Given the description of an element on the screen output the (x, y) to click on. 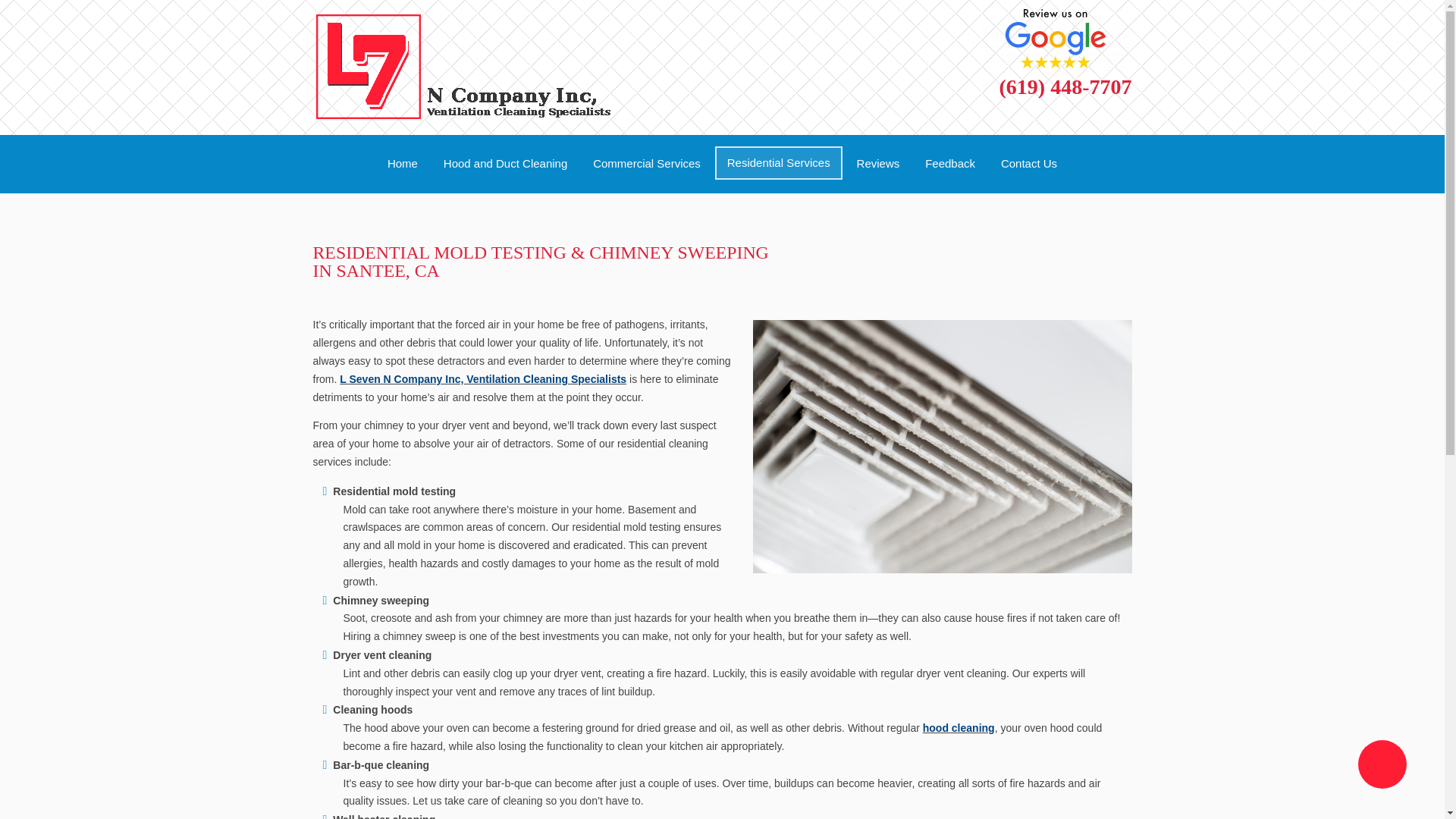
Ventilation Cleaning in Santee, CA (482, 378)
hood cleaning (958, 727)
Hood and Duct Cleaning (505, 163)
Commercial Services (645, 163)
Residential Services (778, 162)
Air Duct Cleaning in Santee, CA (505, 163)
Grease Trap Cleaning in Santee, CA (645, 163)
L Seven N Company Inc, Ventilation Cleaning Specialists (482, 378)
Mold Remediation in Santee, CA (402, 163)
Reviews (878, 163)
Contact Us (1029, 163)
Air Duct Cleaning in Santee, CA (958, 727)
Feedback (950, 163)
Dryer Vent Cleaning in Santee, CA (778, 162)
Home (402, 163)
